Given the description of an element on the screen output the (x, y) to click on. 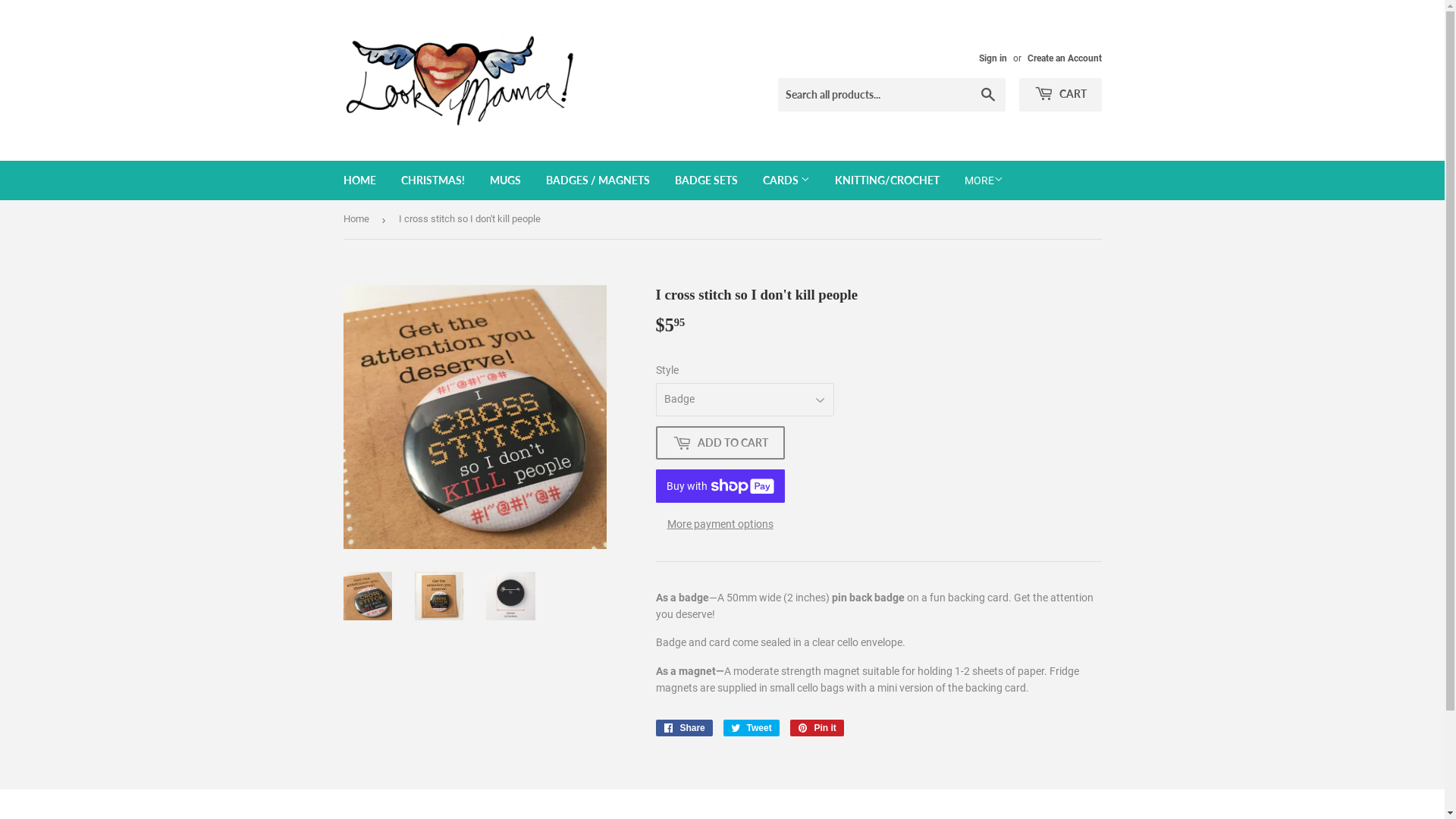
BADGE SETS Element type: text (705, 180)
Search Element type: text (987, 95)
CARDS Element type: text (785, 180)
More payment options Element type: text (719, 523)
ADD TO CART Element type: text (719, 442)
Sign in Element type: text (992, 58)
Tweet
Tweet on Twitter Element type: text (751, 727)
Share
Share on Facebook Element type: text (683, 727)
Pin it
Pin on Pinterest Element type: text (817, 727)
CART Element type: text (1060, 94)
CHRISTMAS! Element type: text (432, 180)
Create an Account Element type: text (1063, 58)
MORE Element type: text (982, 180)
KNITTING/CROCHET Element type: text (886, 180)
HOME Element type: text (359, 180)
Home Element type: text (357, 219)
BADGES / MAGNETS Element type: text (596, 180)
MUGS Element type: text (504, 180)
